Given the description of an element on the screen output the (x, y) to click on. 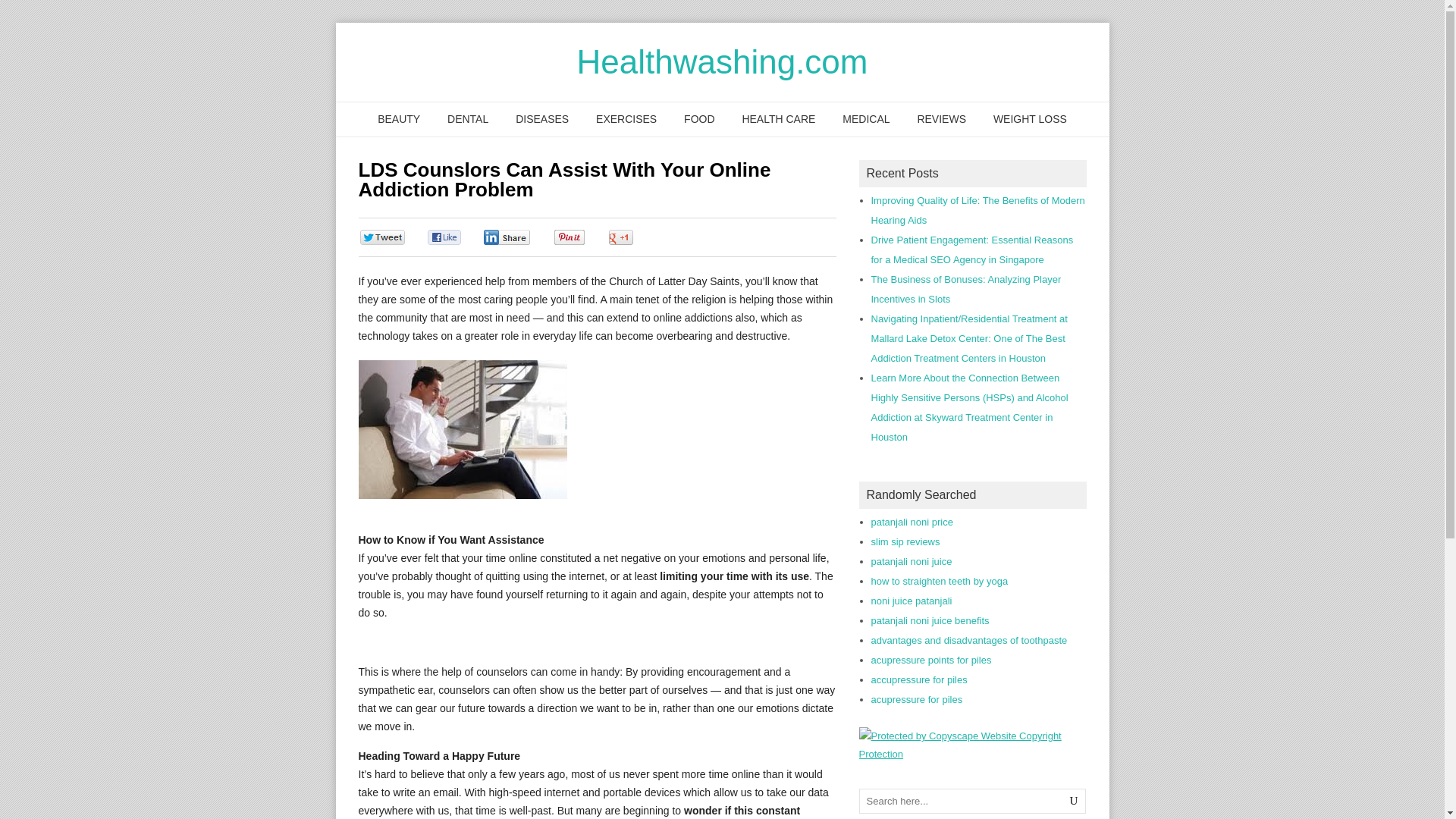
how to straighten teeth by yoga (938, 581)
BEAUTY (398, 119)
slim sip reviews (904, 541)
patanjali noni juice (911, 561)
HEALTH CARE (778, 119)
REVIEWS (941, 119)
patanjali noni juice benefits (929, 620)
noni juice patanjali (911, 600)
Be the first one to tweet this article! (398, 237)
accupressure for piles (918, 679)
Healthwashing.com (721, 61)
patanjali noni juice (911, 561)
acupressure for piles (916, 699)
slim sip reviews (904, 541)
